Given the description of an element on the screen output the (x, y) to click on. 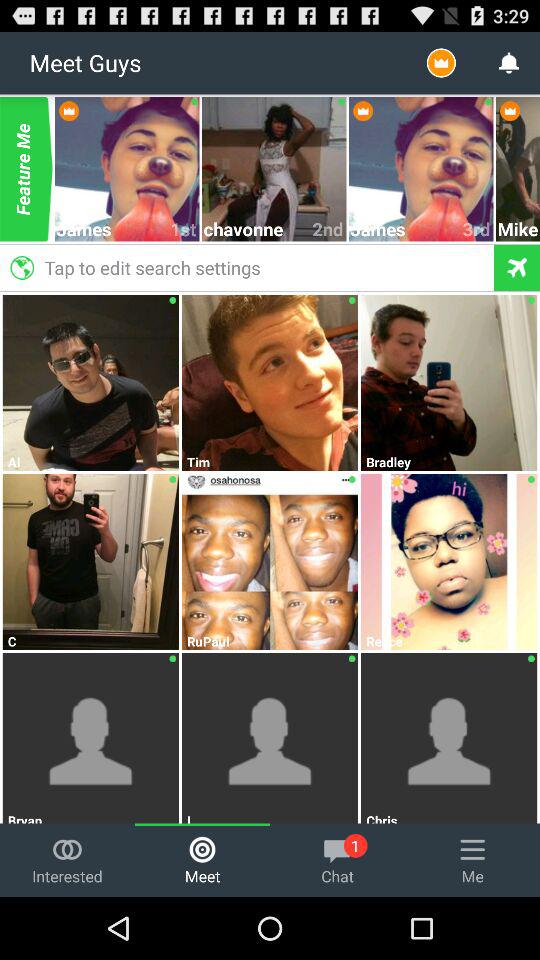
select bryan icon (91, 817)
